Given the description of an element on the screen output the (x, y) to click on. 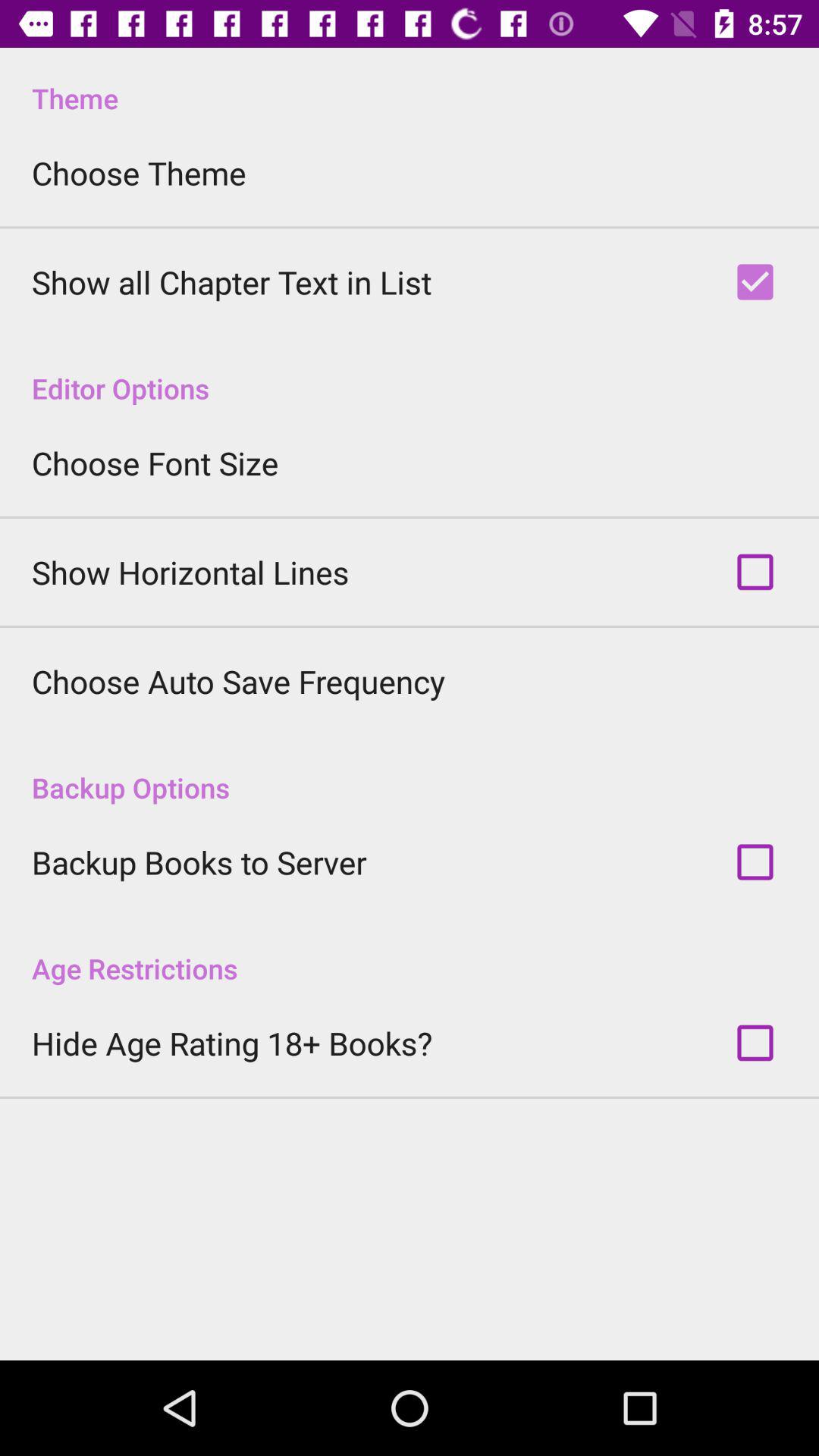
click the item below the choose font size icon (190, 571)
